Given the description of an element on the screen output the (x, y) to click on. 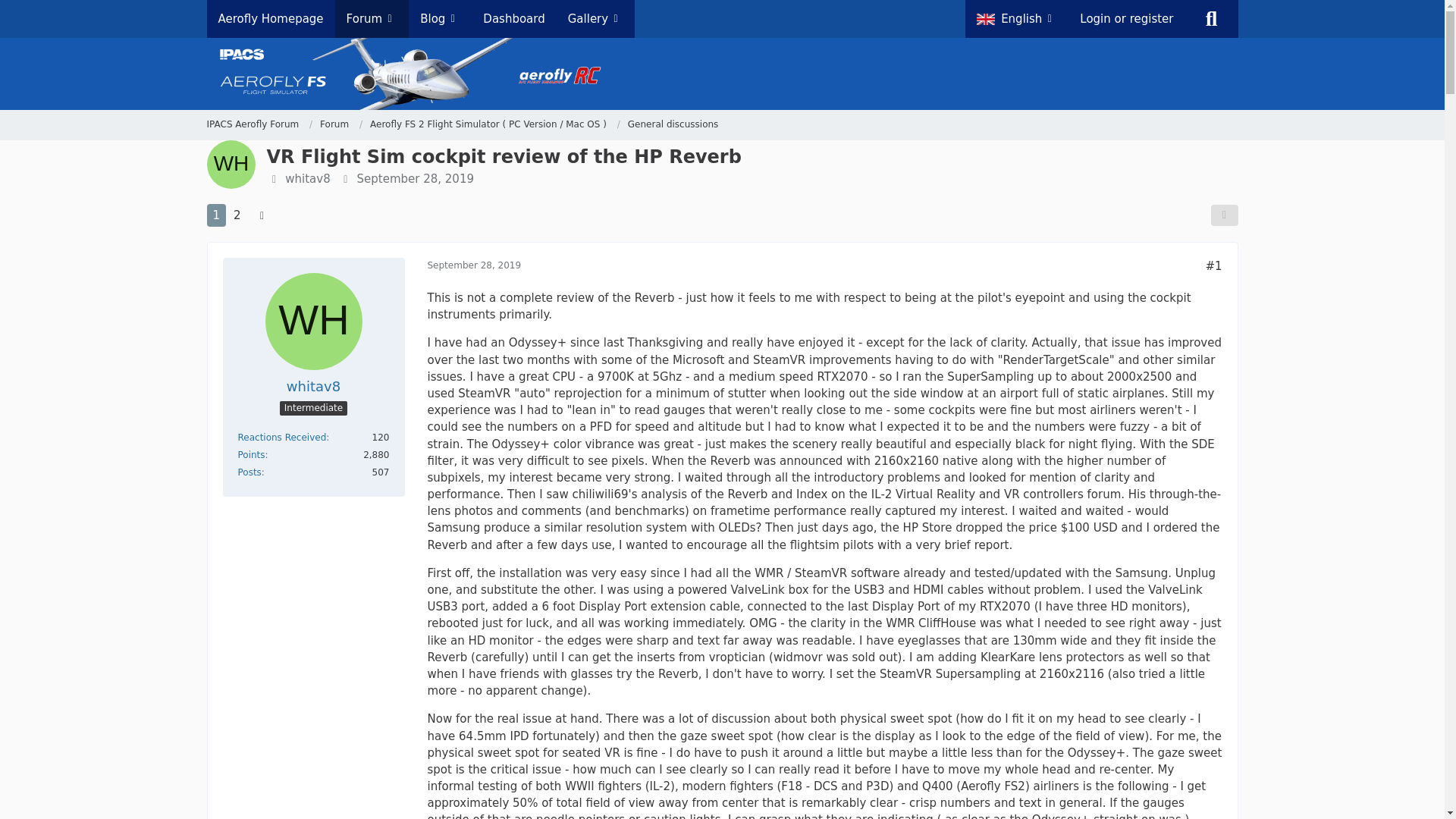
Aerofly Homepage (270, 18)
Posts (250, 471)
whitav8 (307, 178)
Dashboard (513, 18)
Login or register (1126, 18)
whitav8 (313, 385)
General discussions (673, 124)
Forum (341, 124)
IPACS Aerofly Forum (259, 124)
Reactions Received (282, 437)
IPACS Aerofly Forum (252, 124)
Points (251, 454)
Forum (334, 124)
